Given the description of an element on the screen output the (x, y) to click on. 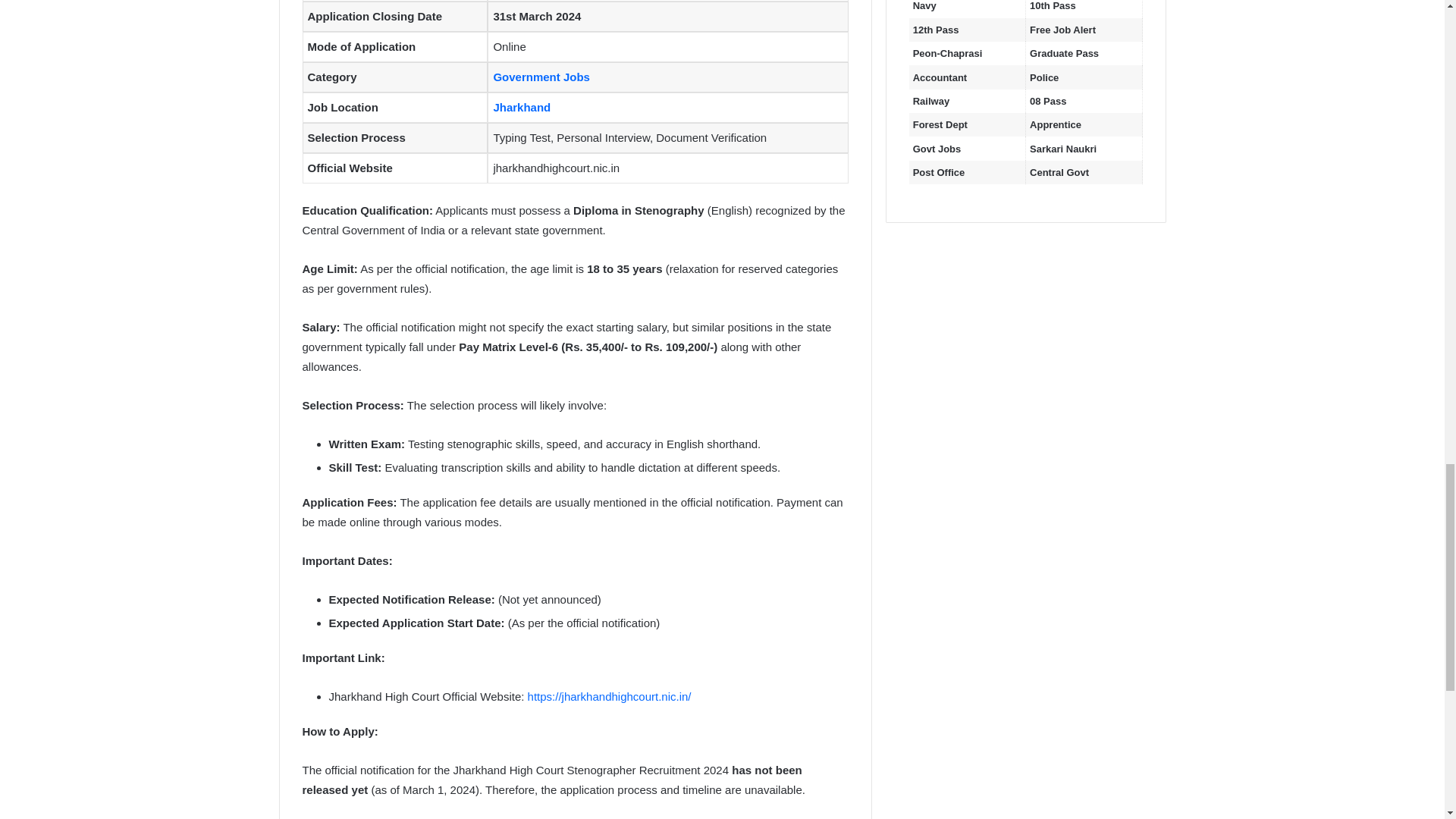
Jharkhand (521, 106)
Government Jobs (541, 76)
